Given the description of an element on the screen output the (x, y) to click on. 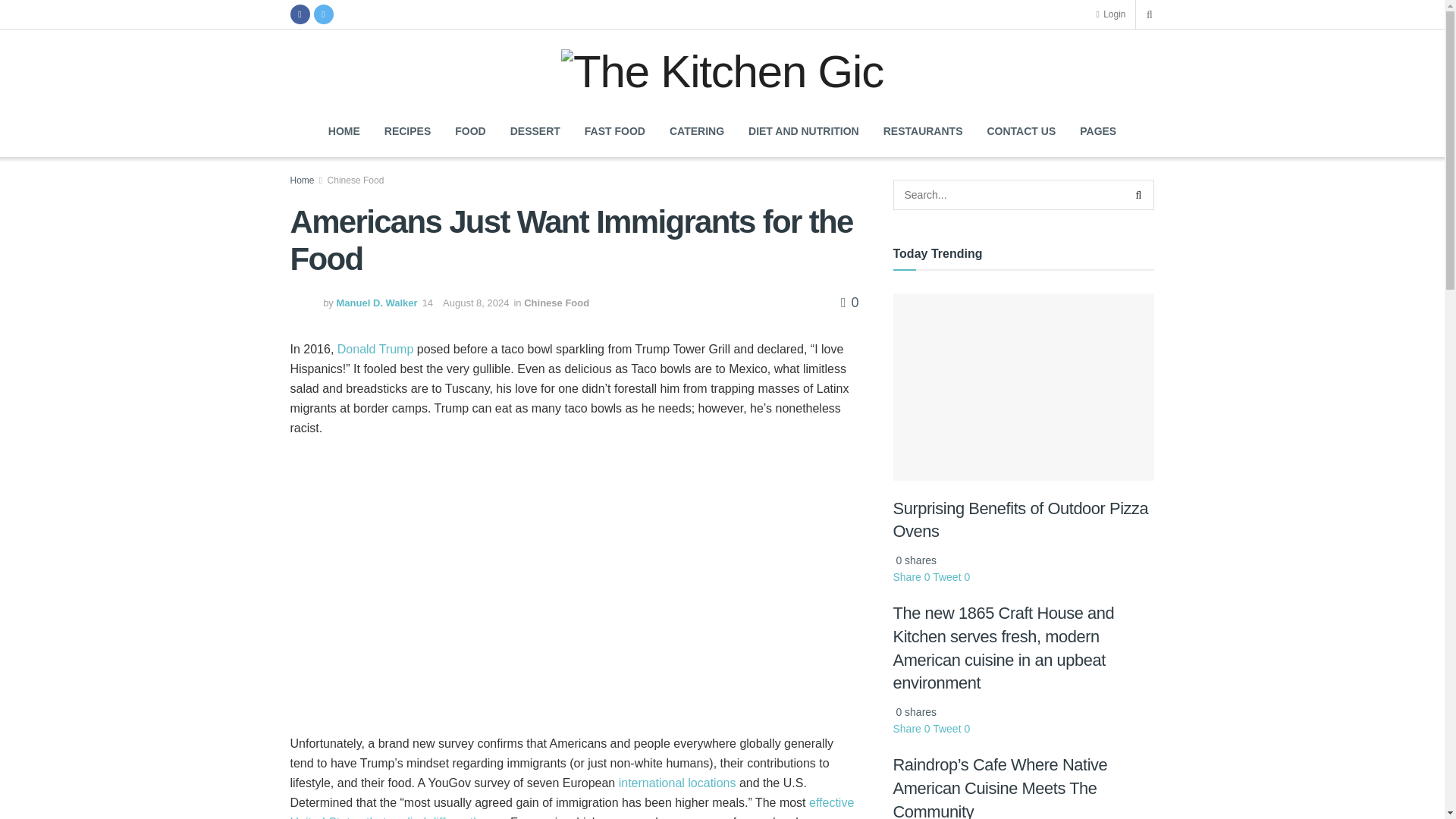
PAGES (1097, 131)
CATERING (697, 131)
Americans Just Want Immigrants for the Food 1 (573, 586)
RESTAURANTS (922, 131)
DESSERT (534, 131)
FOOD (469, 131)
HOME (343, 131)
RECIPES (407, 131)
CONTACT US (1020, 131)
Login (1110, 14)
